Given the description of an element on the screen output the (x, y) to click on. 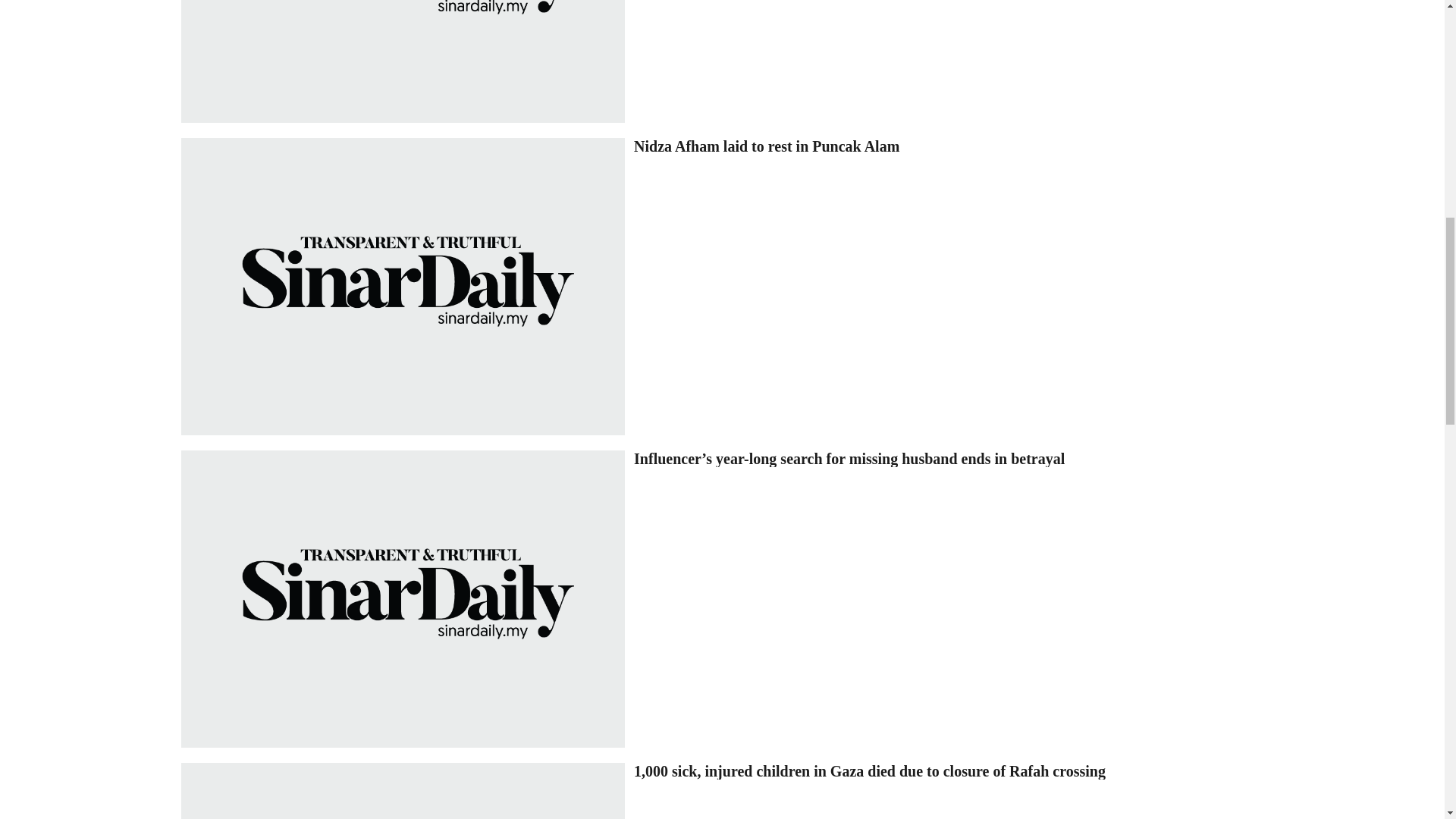
Nidza Afham laid to rest in Puncak Alam (402, 286)
Nidza Afham laid to rest in Puncak Alam (951, 146)
